Given the description of an element on the screen output the (x, y) to click on. 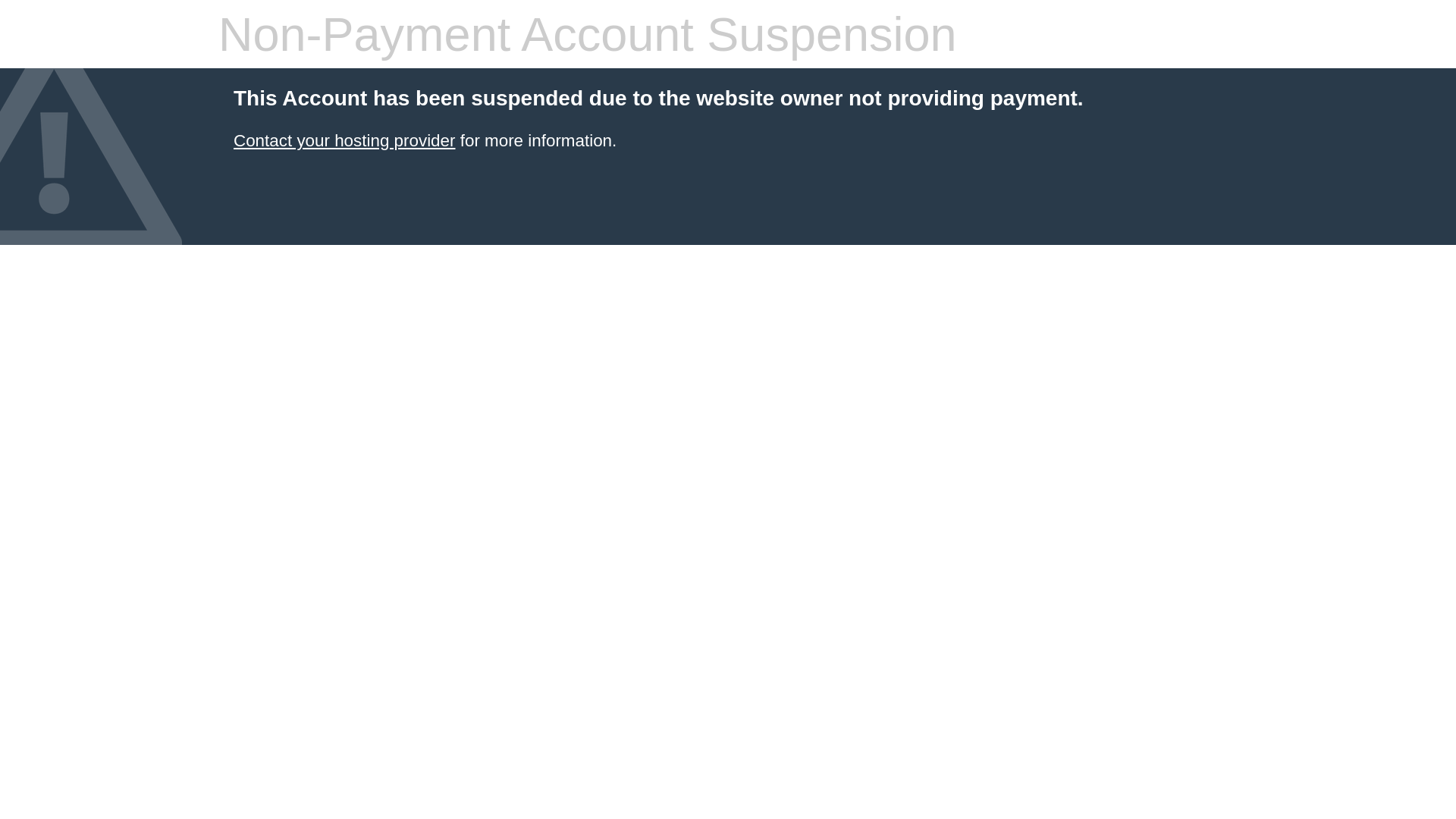
Contact your hosting provider Element type: text (344, 140)
